Given the description of an element on the screen output the (x, y) to click on. 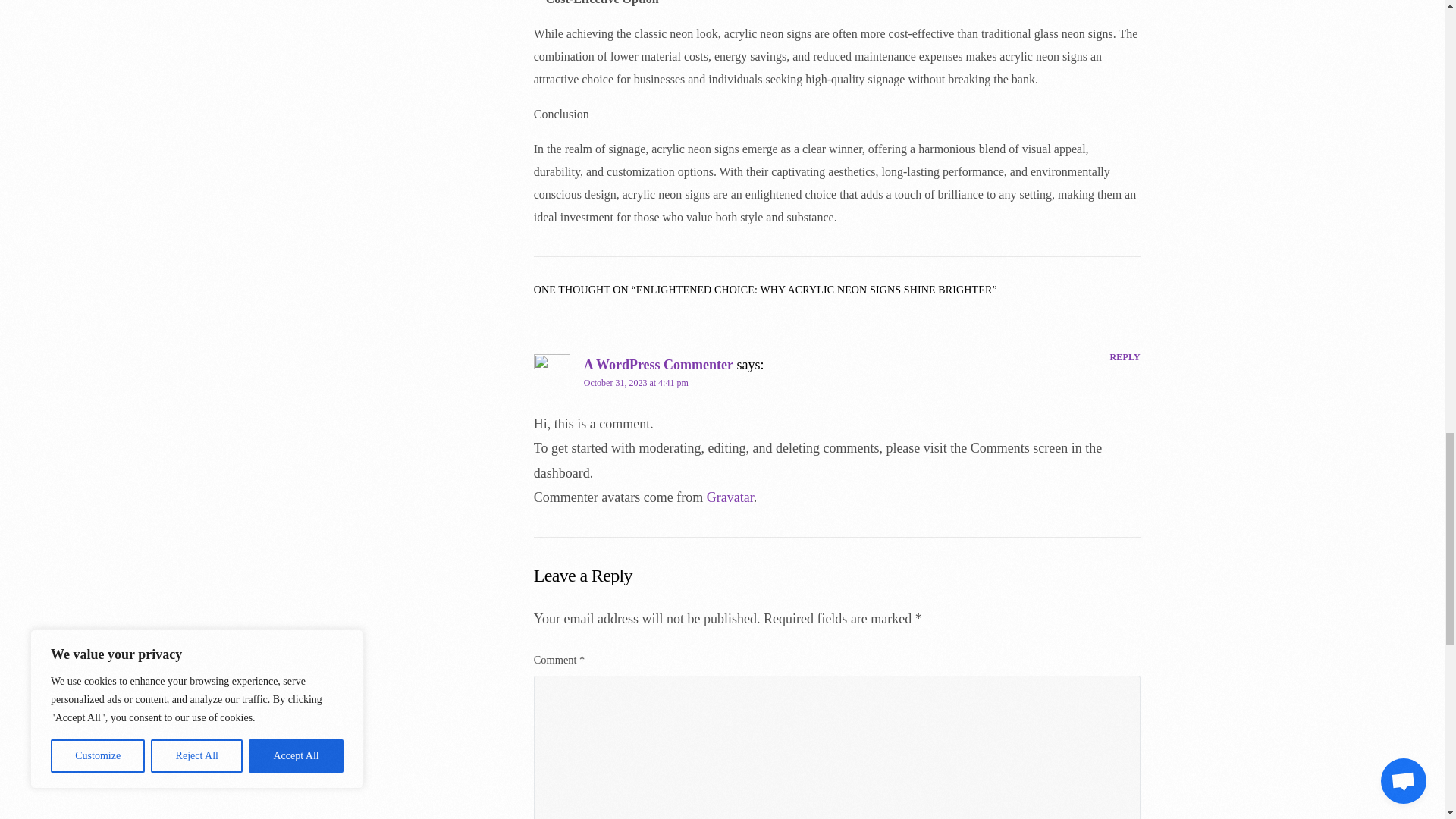
Gravatar (730, 497)
REPLY (1124, 357)
October 31, 2023 at 4:41 pm (635, 382)
A WordPress Commenter (658, 364)
